Given the description of an element on the screen output the (x, y) to click on. 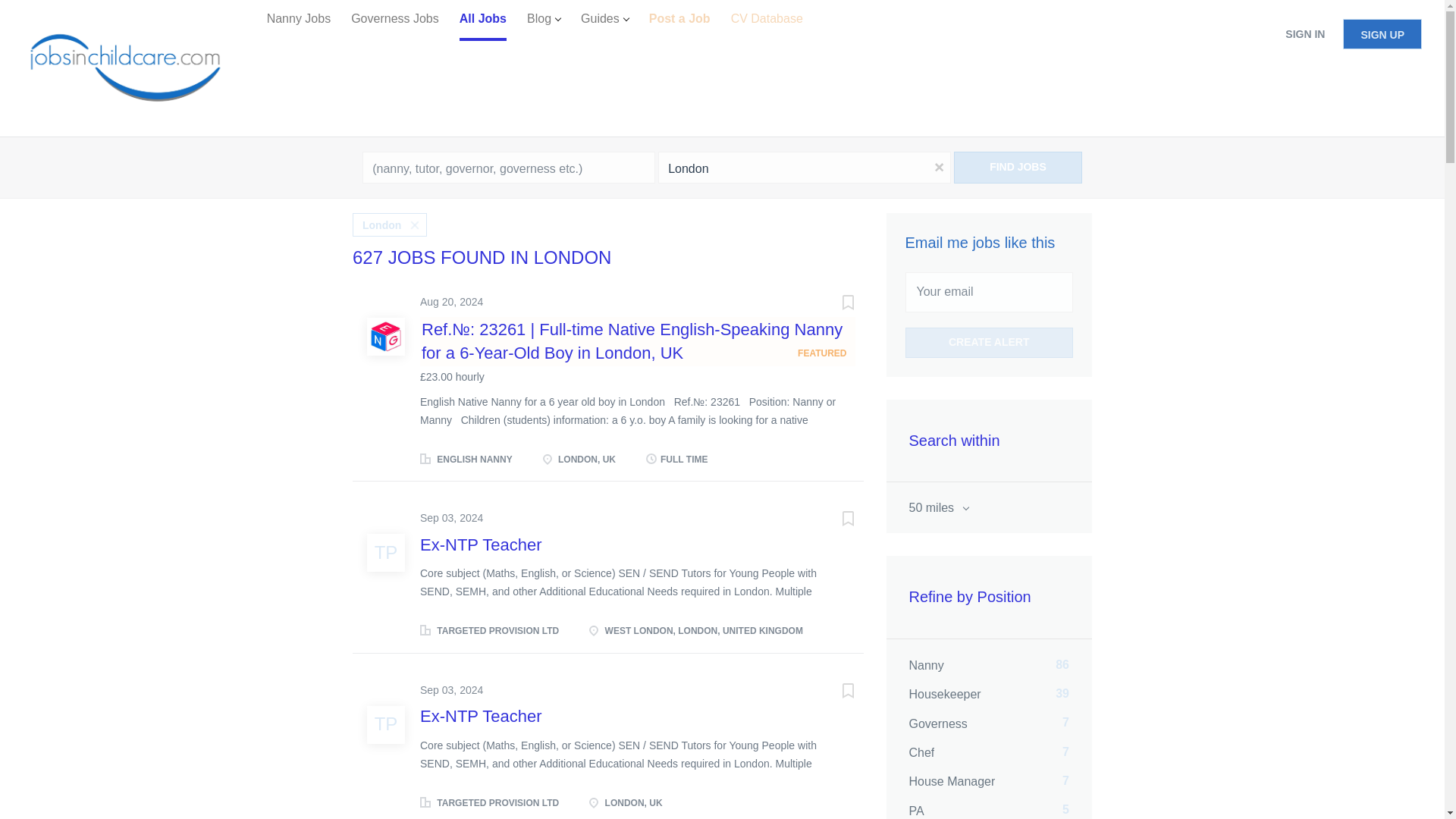
Create alert (989, 342)
SIGN IN (1305, 33)
SIGN UP (1382, 33)
London (804, 167)
Targeted Provision Ltd (385, 723)
Targeted Provision Ltd (385, 552)
